Given the description of an element on the screen output the (x, y) to click on. 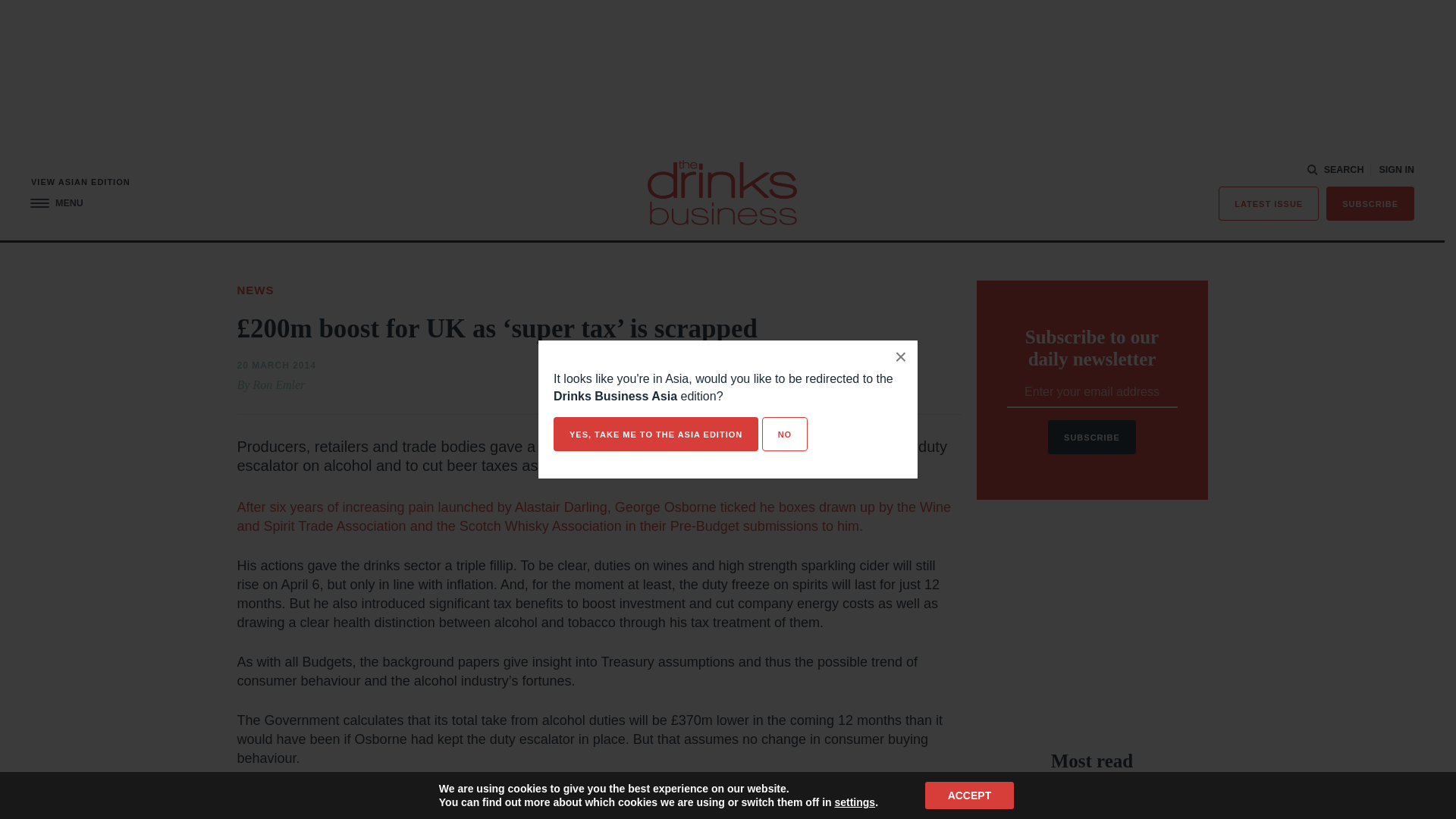
YES, TAKE ME TO THE ASIA EDITION (655, 433)
3rd party ad content (1091, 624)
The Drinks Business (721, 192)
VIEW ASIAN EDITION (80, 182)
NO (784, 433)
LATEST ISSUE (1268, 203)
SEARCH (1335, 169)
SIGN IN (1395, 170)
MENU (56, 203)
